Given the description of an element on the screen output the (x, y) to click on. 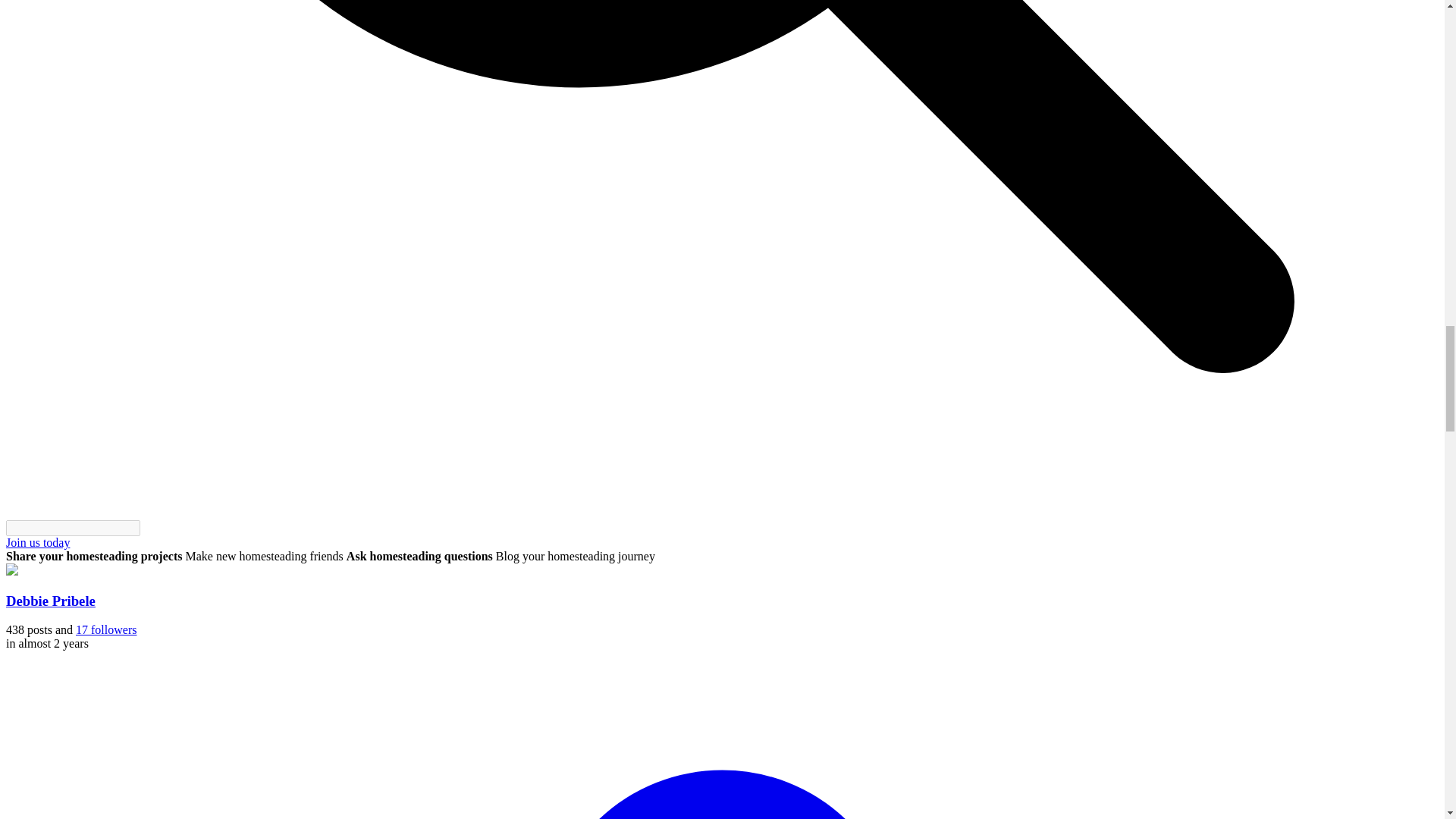
Sign in (37, 542)
17 followers (105, 629)
Debbie Pribele (11, 571)
Join us today (37, 542)
Debbie Pribele (50, 600)
Debbie Pribele (50, 600)
